Given the description of an element on the screen output the (x, y) to click on. 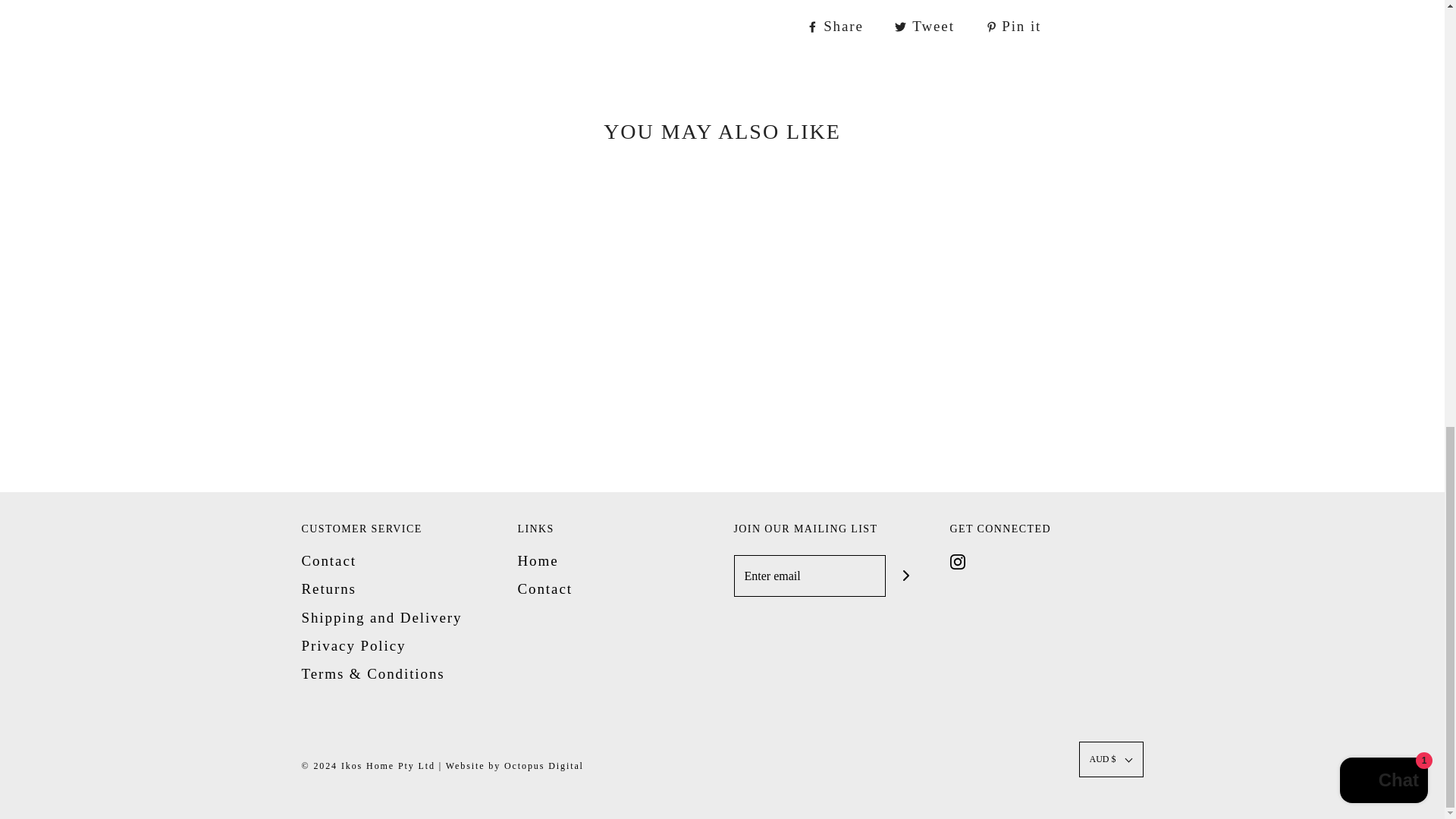
Instagram icon (956, 561)
